Given the description of an element on the screen output the (x, y) to click on. 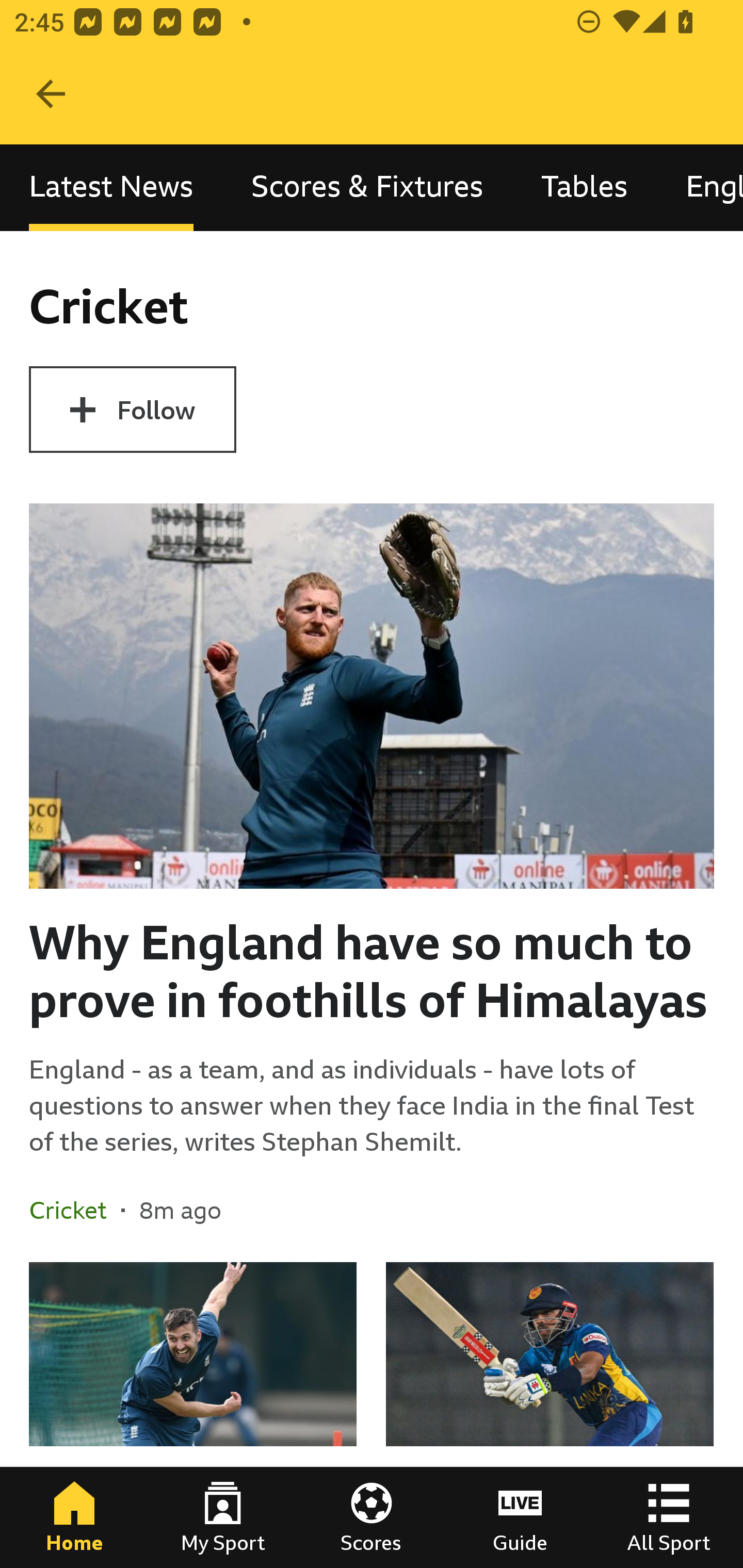
Navigate up (50, 93)
Latest News, selected Latest News (111, 187)
Scores & Fixtures (367, 187)
Tables (584, 187)
Follow Cricket Follow (132, 409)
Cricket In the section Cricket (74, 1209)
England recall Wood for Robinson for fifth Test (192, 1415)
Bangladesh v Sri Lanka - second T20 scorecard (549, 1415)
My Sport (222, 1517)
Scores (371, 1517)
Guide (519, 1517)
All Sport (668, 1517)
